Given the description of an element on the screen output the (x, y) to click on. 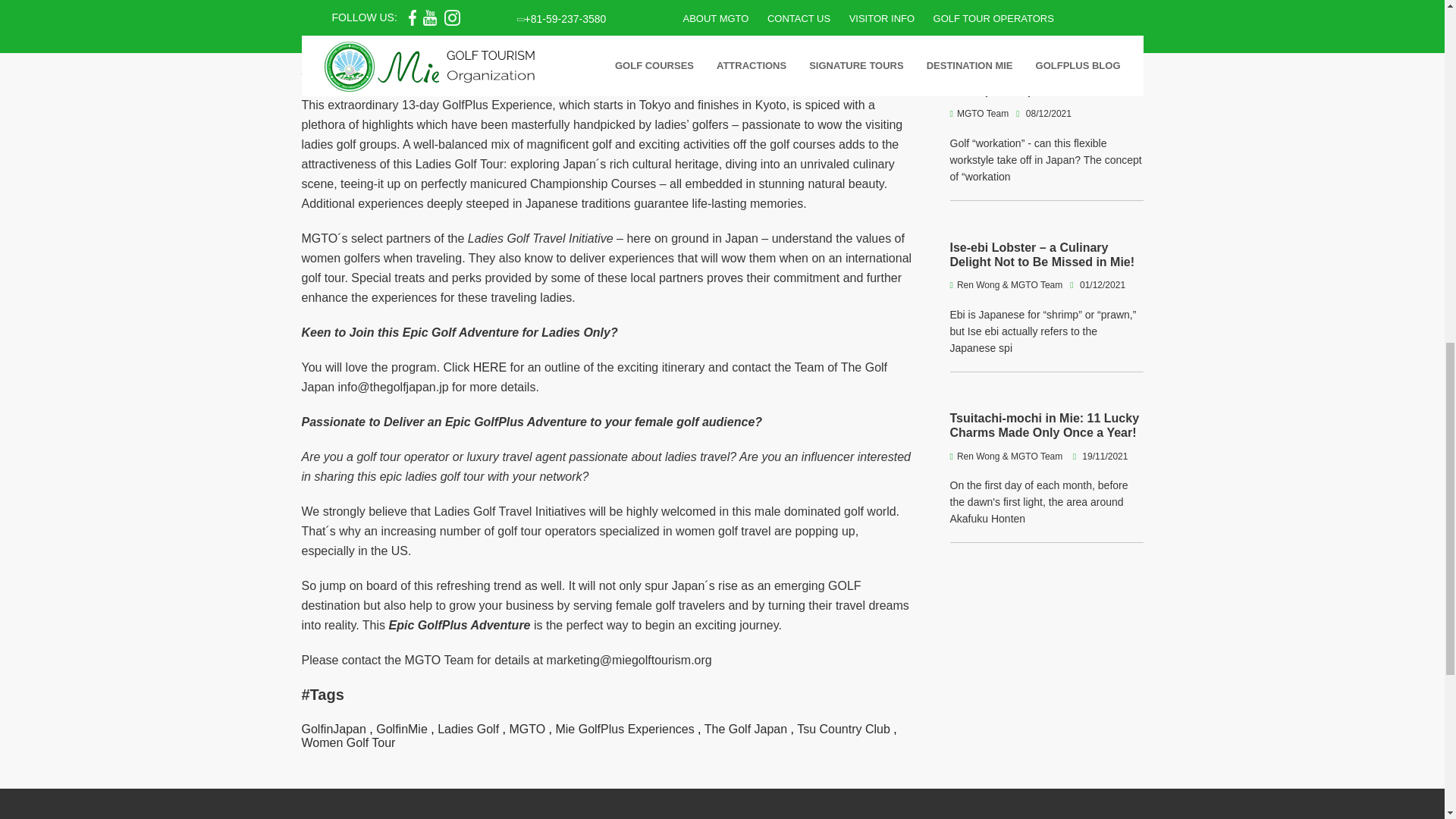
HERE (489, 367)
The Golf Japan (745, 728)
GolfinJapan (333, 728)
GolfinMie (401, 728)
Women Golf Tour (348, 742)
Tsu Country Club (842, 728)
Mie GolfPlus Experiences (624, 728)
Ladies Golf (468, 728)
MGTO (526, 728)
